Given the description of an element on the screen output the (x, y) to click on. 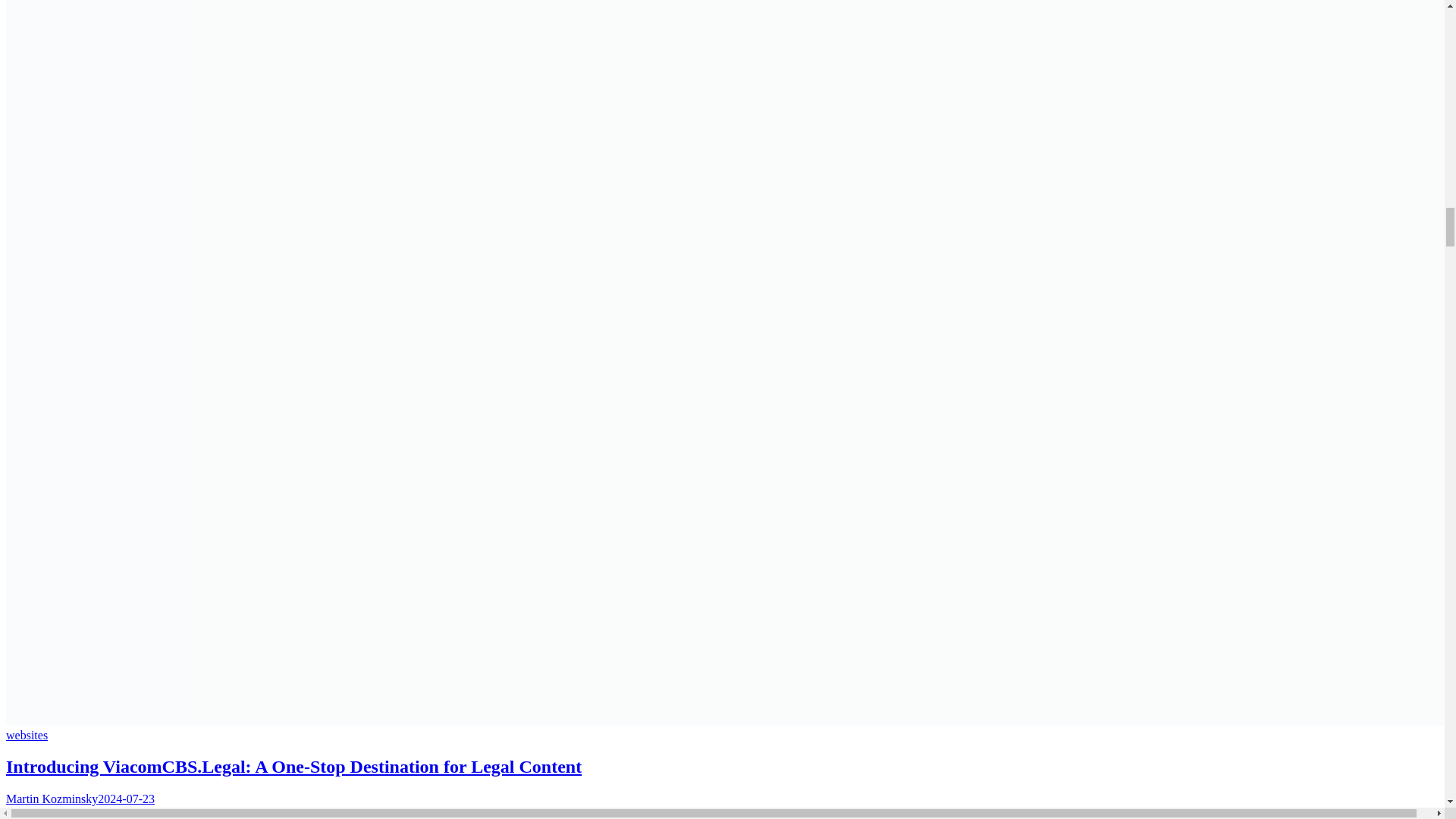
Martin Kozminsky (51, 798)
websites (26, 734)
2024-07-23 (125, 798)
